Given the description of an element on the screen output the (x, y) to click on. 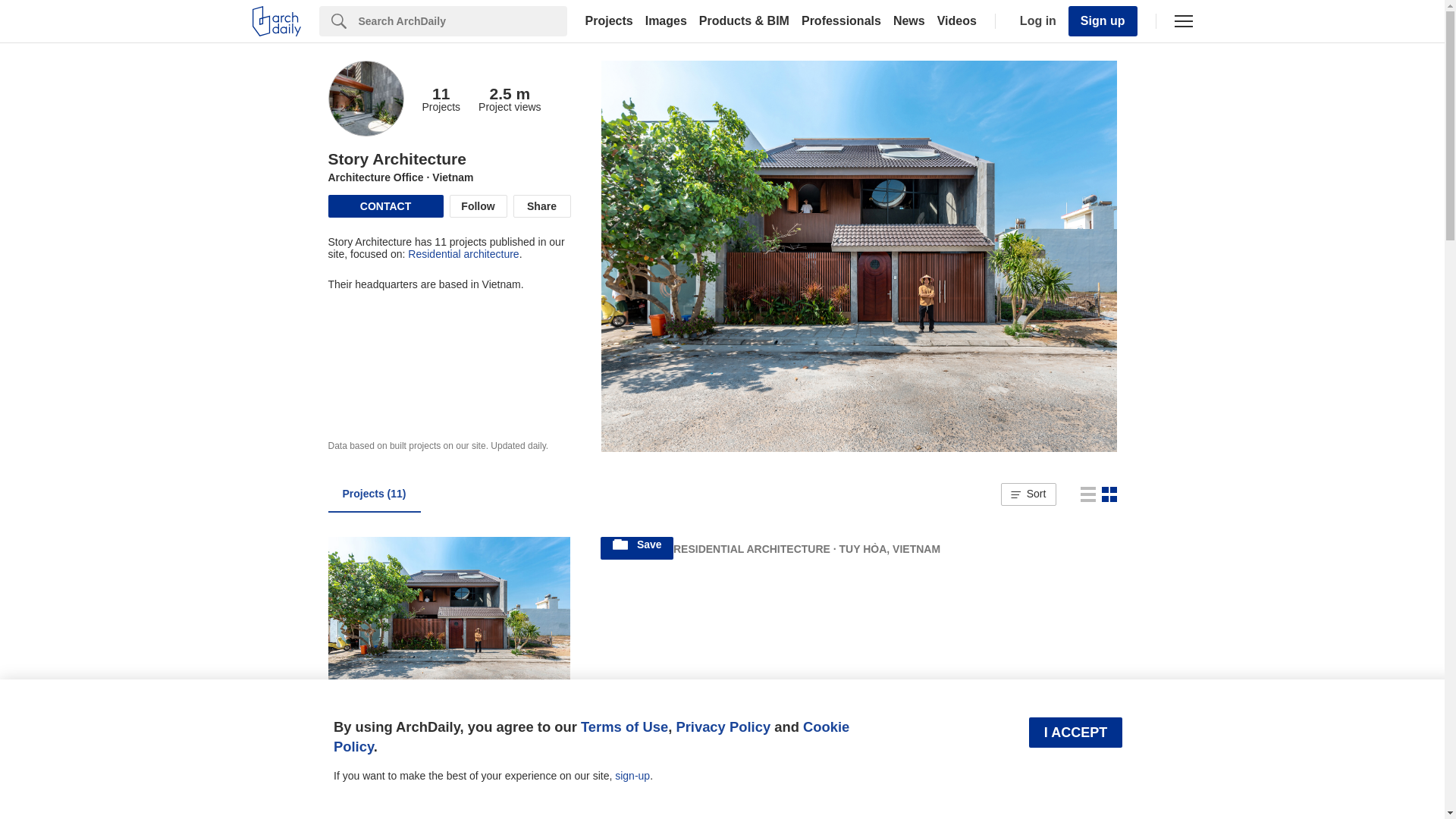
Videos (956, 21)
Projects (609, 21)
Sign up (1102, 20)
Images (666, 21)
Log in (1035, 20)
News (908, 21)
Professionals (840, 21)
